Given the description of an element on the screen output the (x, y) to click on. 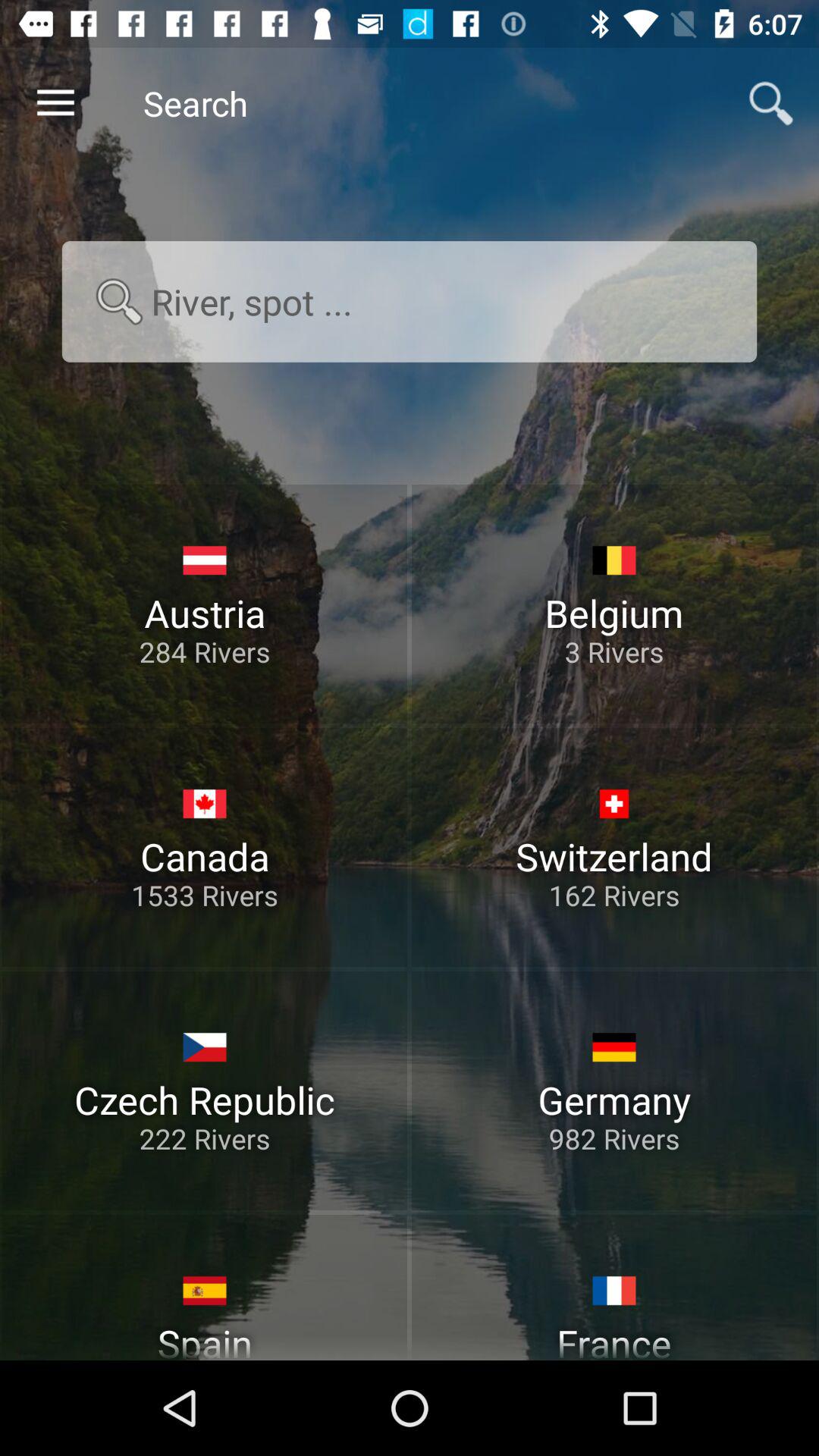
search (409, 301)
